Given the description of an element on the screen output the (x, y) to click on. 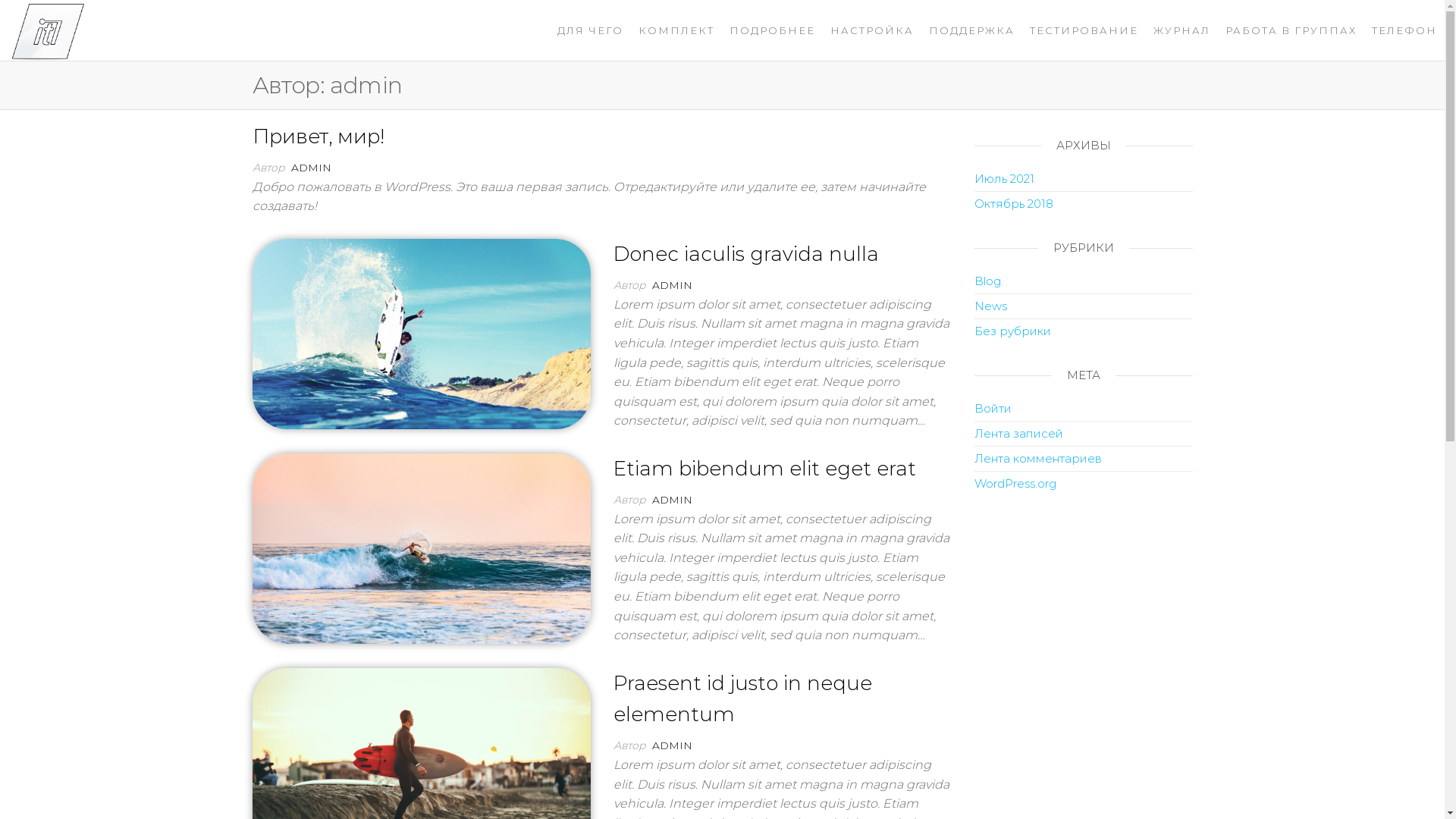
ADMIN Element type: text (672, 284)
News Element type: text (990, 305)
Praesent id justo in neque elementum Element type: hover (420, 761)
Etiam bibendum elit eget erat Element type: hover (420, 547)
ADMIN Element type: text (311, 167)
ADMIN Element type: text (672, 499)
ADMIN Element type: text (672, 745)
Donec iaculis gravida nulla Element type: text (745, 253)
WordPress.org Element type: text (1015, 483)
Etiam bibendum elit eget erat Element type: text (764, 468)
Donec iaculis gravida nulla Element type: hover (420, 332)
Praesent id justo in neque elementum Element type: text (742, 699)
Blog Element type: text (987, 280)
